Given the description of an element on the screen output the (x, y) to click on. 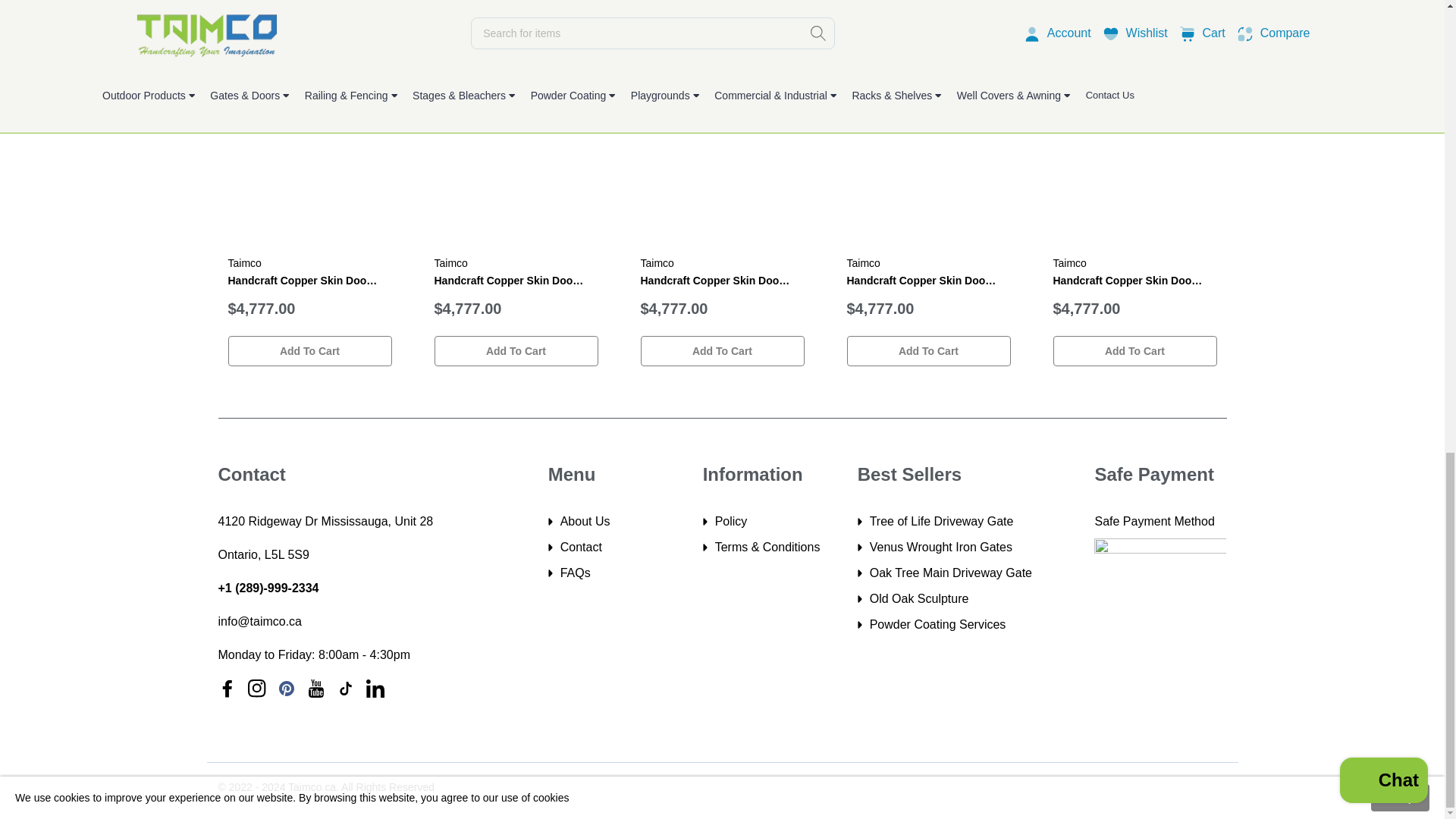
Taimco (450, 263)
Taimco (243, 263)
Taimco (862, 263)
Taimco (656, 263)
Taimco (1069, 263)
